Given the description of an element on the screen output the (x, y) to click on. 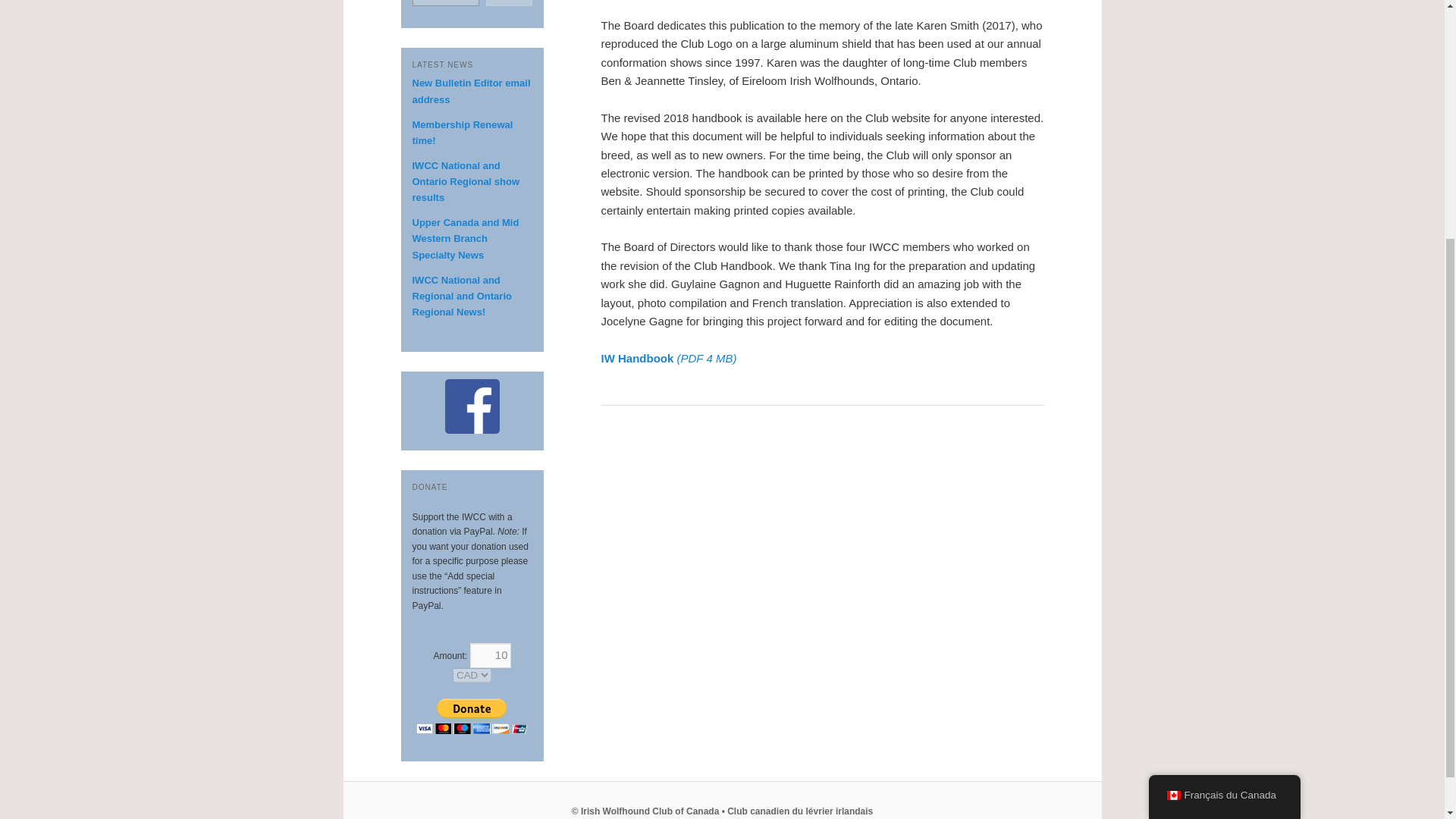
10 (490, 654)
